Given the description of an element on the screen output the (x, y) to click on. 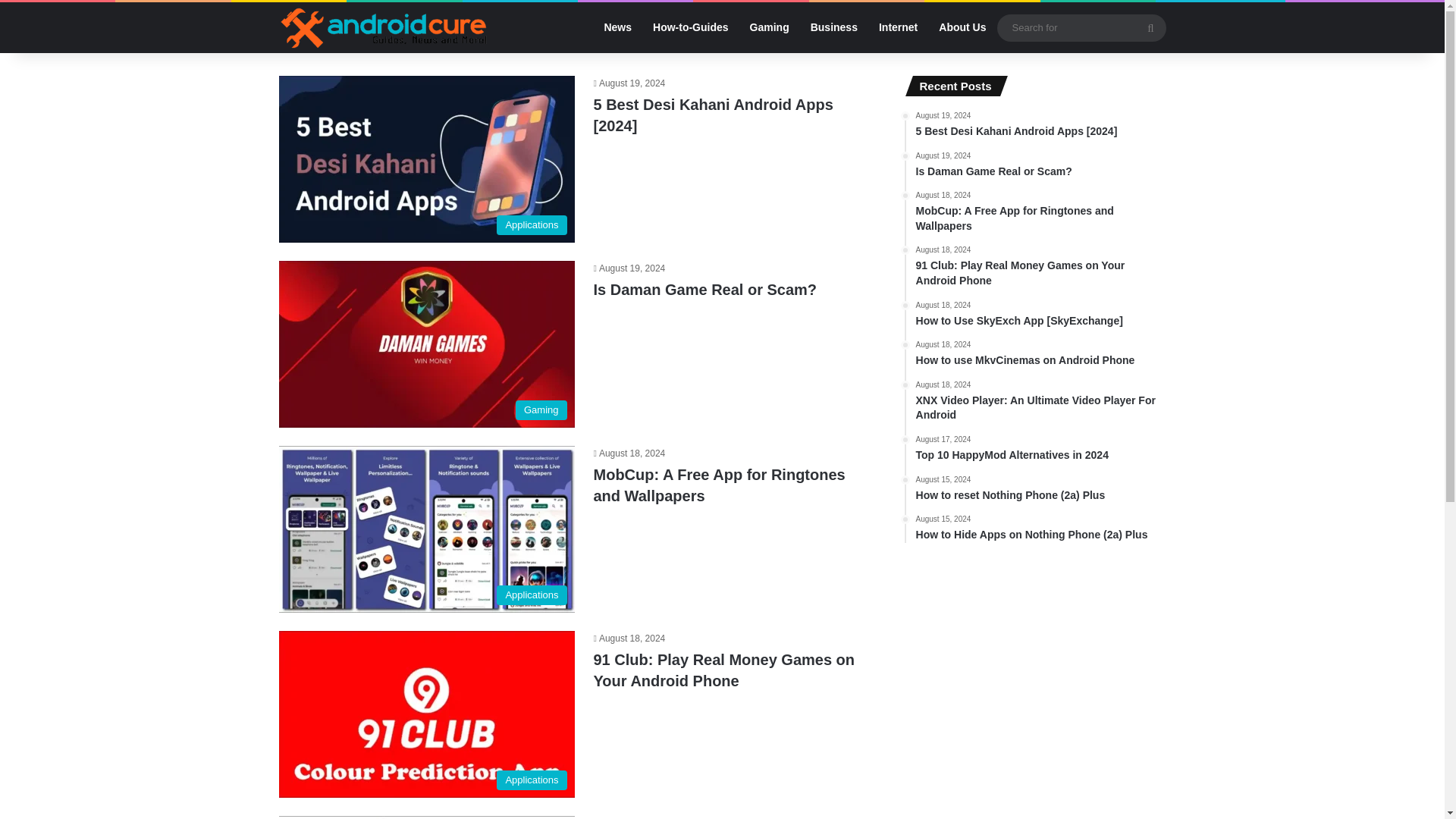
Gaming (769, 27)
Applications (427, 528)
Androidcure (384, 27)
91 Club: Play Real Money Games on Your Android Phone (1040, 165)
How-to-Guides (723, 670)
Applications (1040, 354)
Is Daman Game Real or Scam? (690, 27)
